Given the description of an element on the screen output the (x, y) to click on. 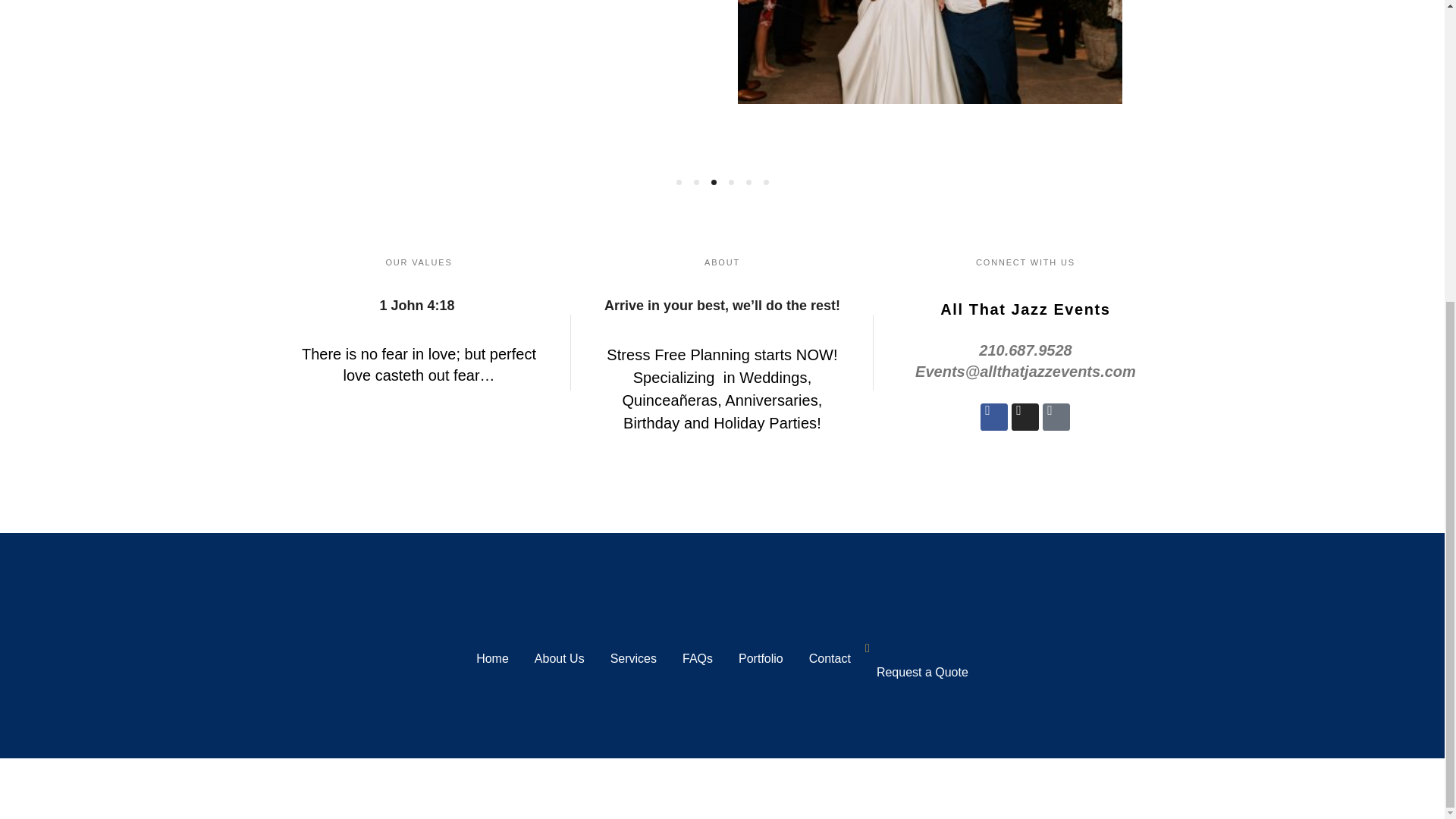
Portfolio (760, 658)
Home (491, 658)
Contact (829, 658)
Services (633, 658)
210.687.9528 (1024, 417)
Request a Quote (921, 672)
About Us (558, 658)
FAQs (697, 658)
